Given the description of an element on the screen output the (x, y) to click on. 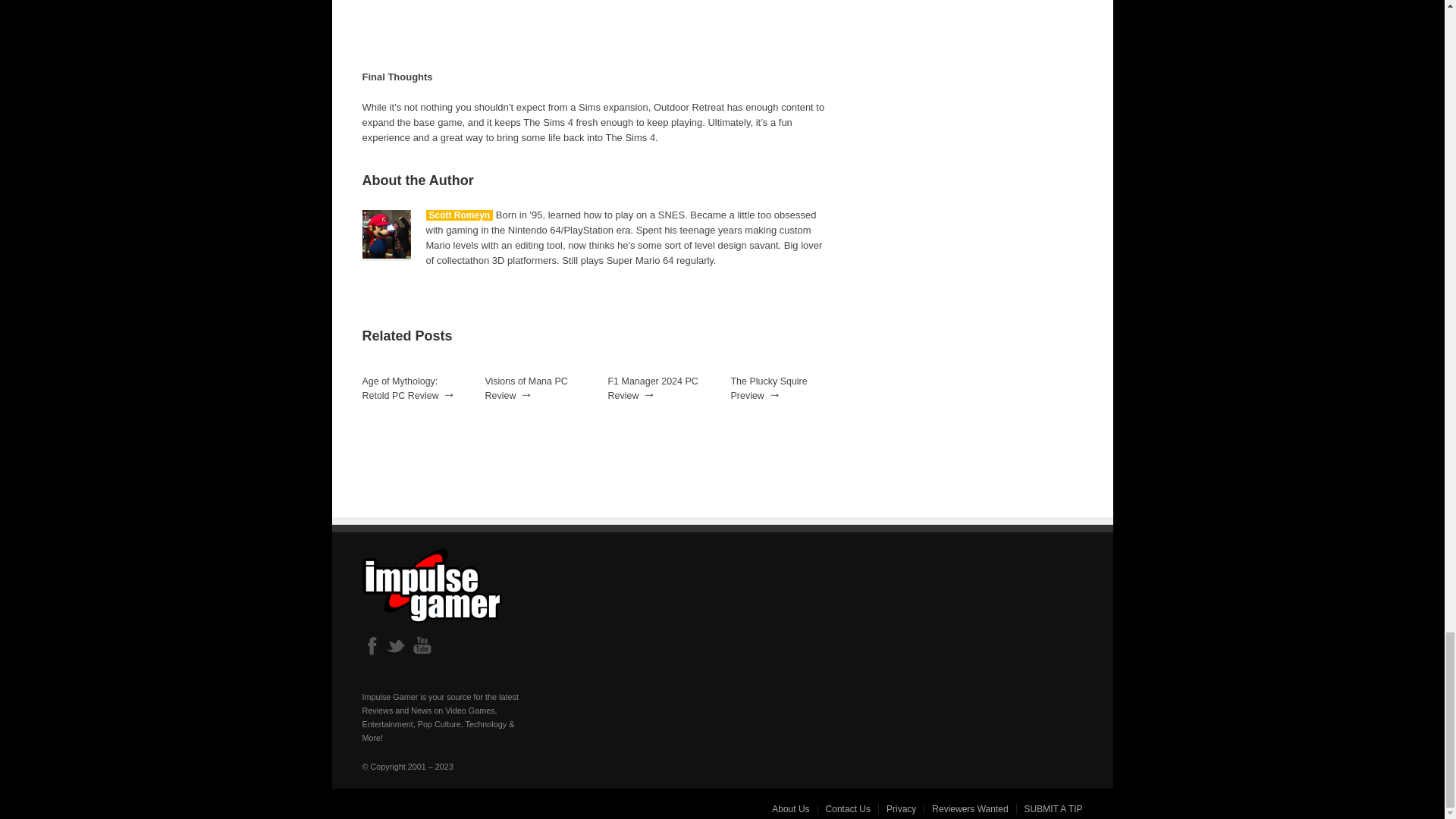
Posts by Scott Romeyn (459, 214)
Age of Mythology: Retold PC Review (400, 388)
The Plucky Squire Preview (769, 388)
Visions of Mana PC Review (525, 388)
F1 Manager 2024 PC Review (653, 388)
